Given the description of an element on the screen output the (x, y) to click on. 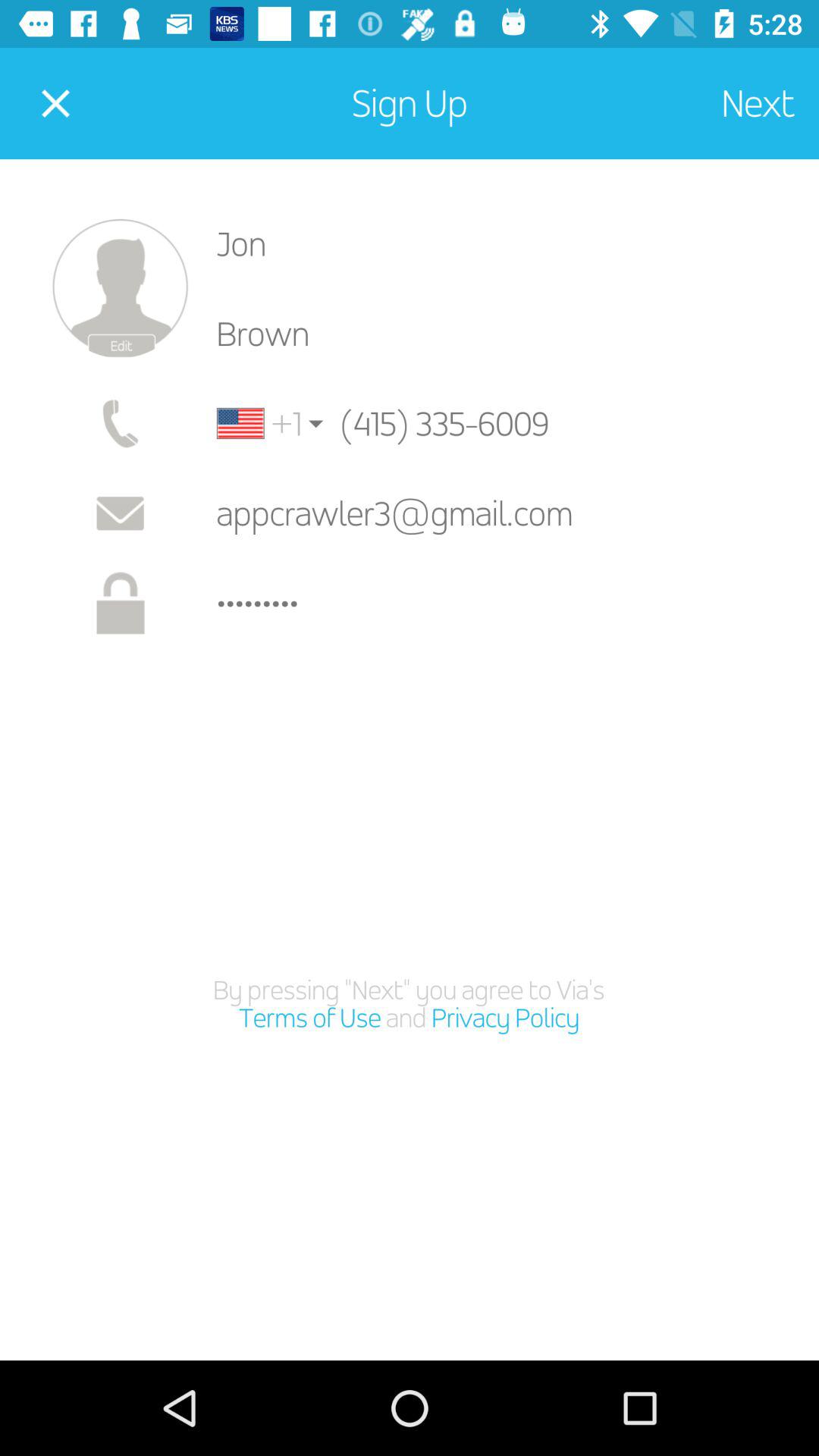
flip until the +1 item (259, 423)
